Given the description of an element on the screen output the (x, y) to click on. 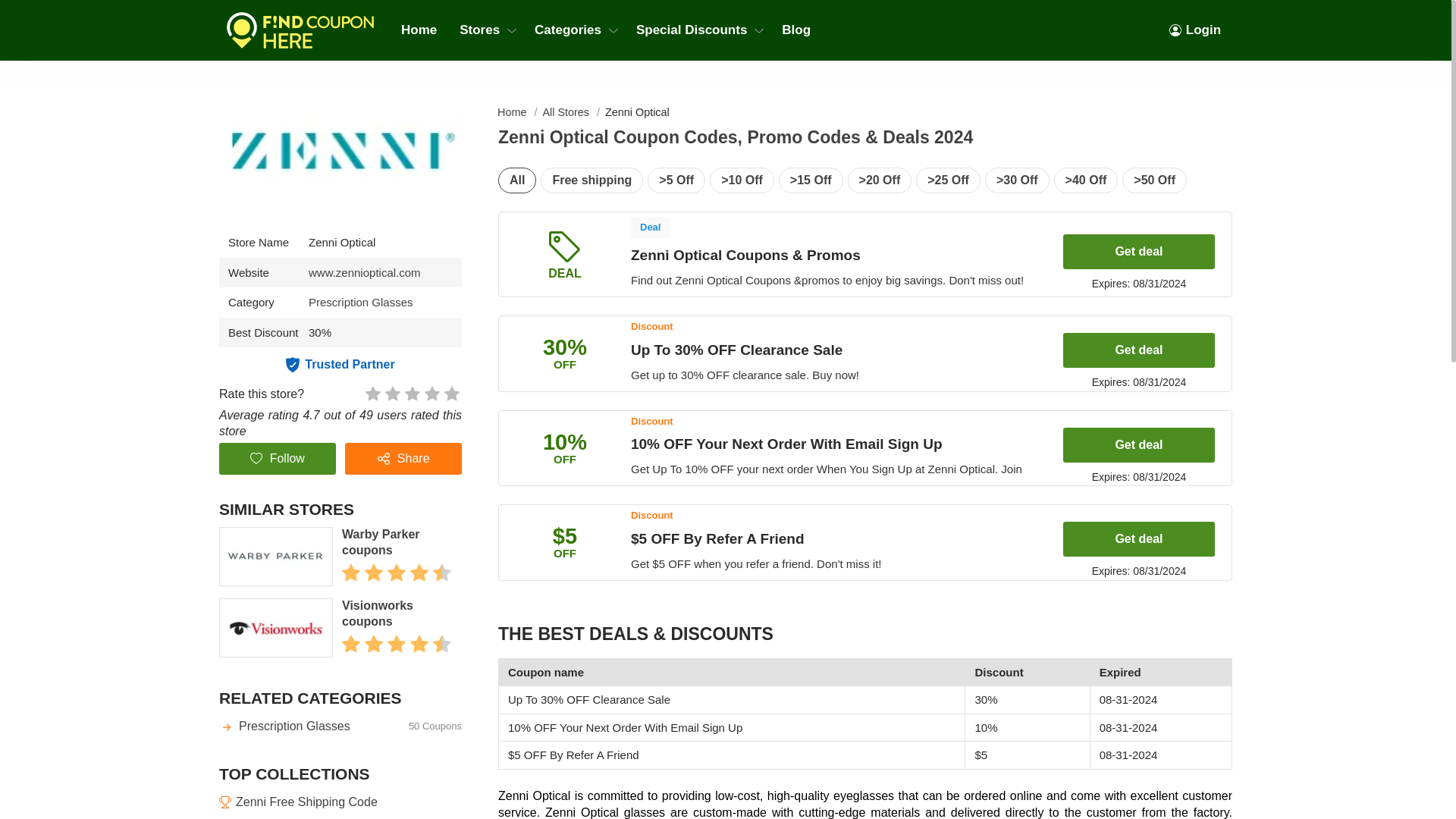
Categories (573, 29)
Stores (485, 29)
Zenni Optical (364, 272)
Prescription Glasses (360, 301)
Home (419, 29)
